Given the description of an element on the screen output the (x, y) to click on. 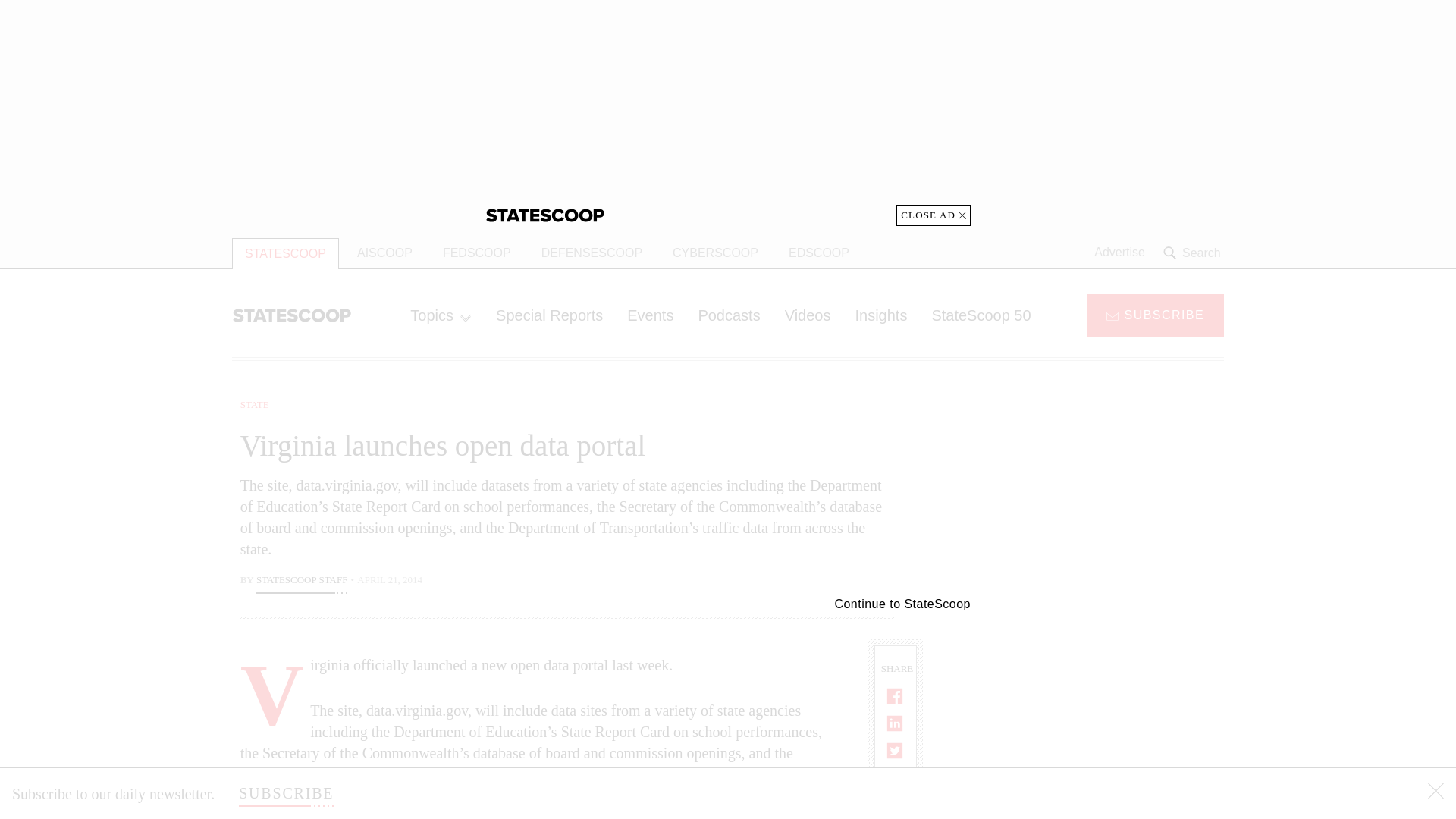
EDSCOOP (818, 253)
CYBERSCOOP (715, 253)
StateScoop 50 (980, 315)
3rd party ad content (1101, 705)
Topics (440, 315)
STATESCOOP STAFF (301, 581)
FEDSCOOP (476, 253)
DEFENSESCOOP (591, 253)
SUBSCRIBE (285, 793)
3rd party ad content (727, 112)
Search (1193, 252)
STATESCOOP (285, 253)
STATE (254, 404)
AISCOOP (385, 253)
Special Reports (548, 315)
